Given the description of an element on the screen output the (x, y) to click on. 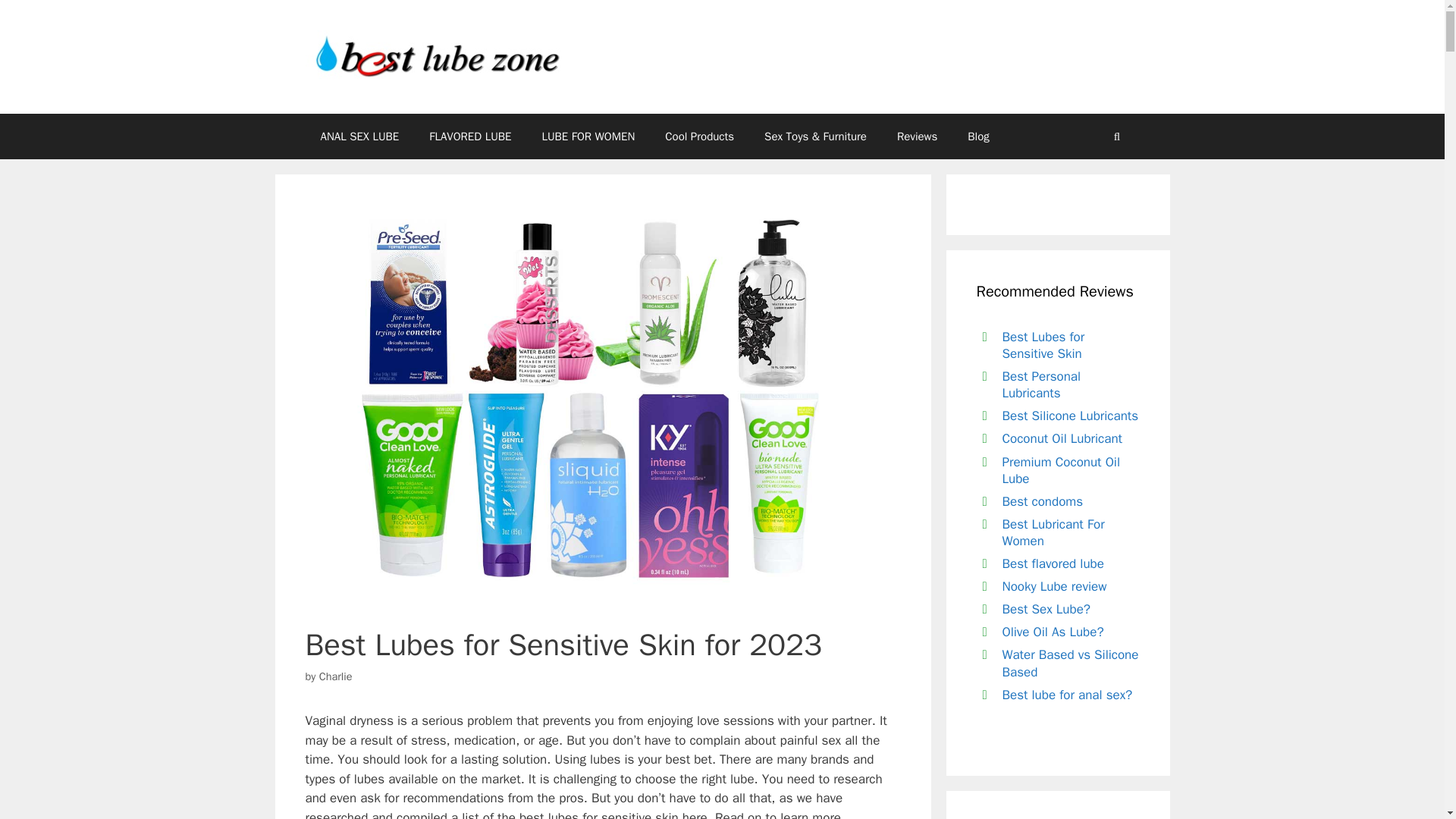
FLAVORED LUBE (469, 135)
LUBE FOR WOMEN (587, 135)
ANAL SEX LUBE (358, 135)
Charlie (335, 676)
Blog (978, 135)
View all posts by Charlie (335, 676)
Reviews (917, 135)
Cool Products (699, 135)
